Given the description of an element on the screen output the (x, y) to click on. 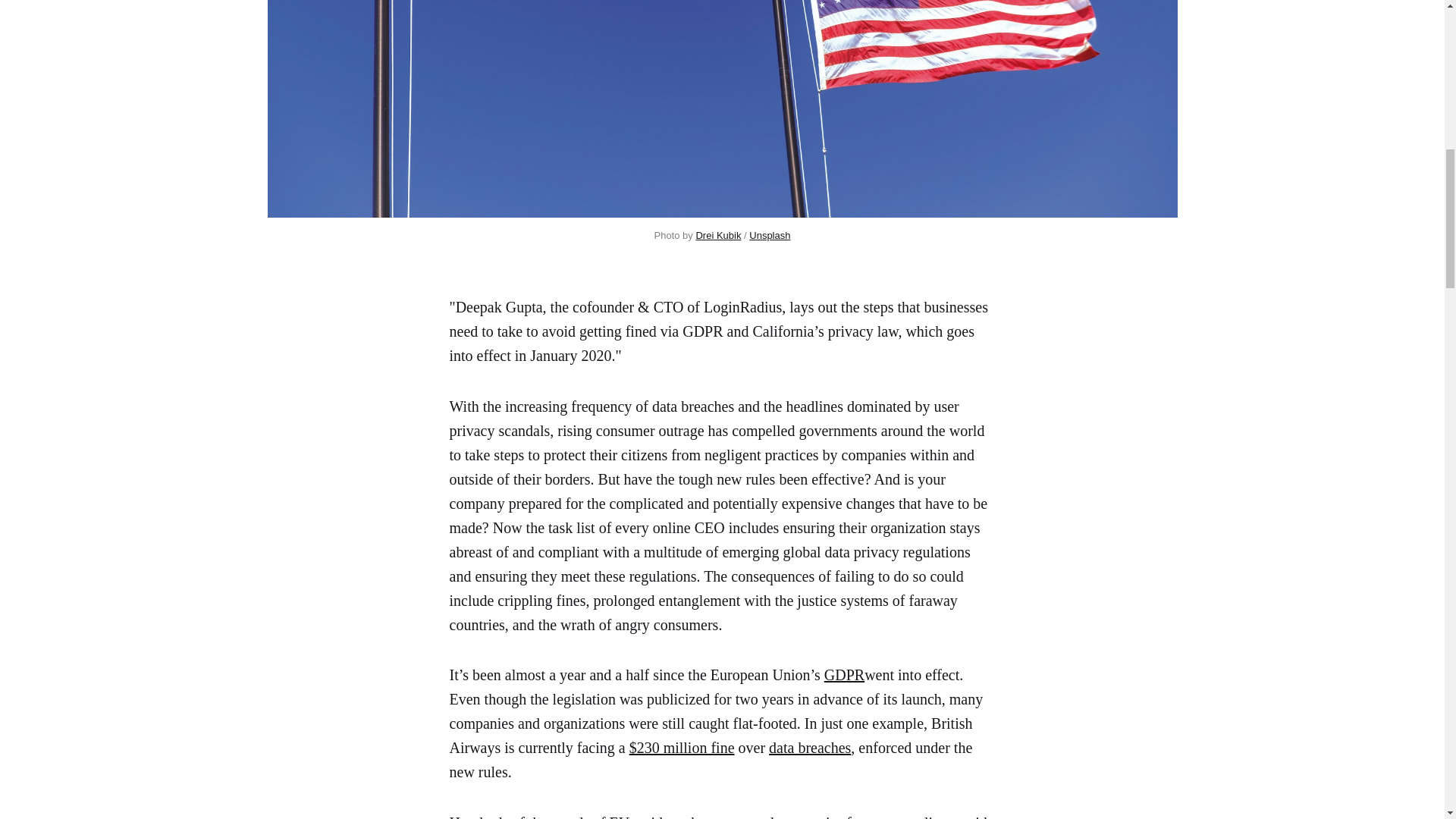
Unsplash (769, 235)
data breaches (809, 747)
GDPR (844, 674)
Drei Kubik (718, 235)
